Given the description of an element on the screen output the (x, y) to click on. 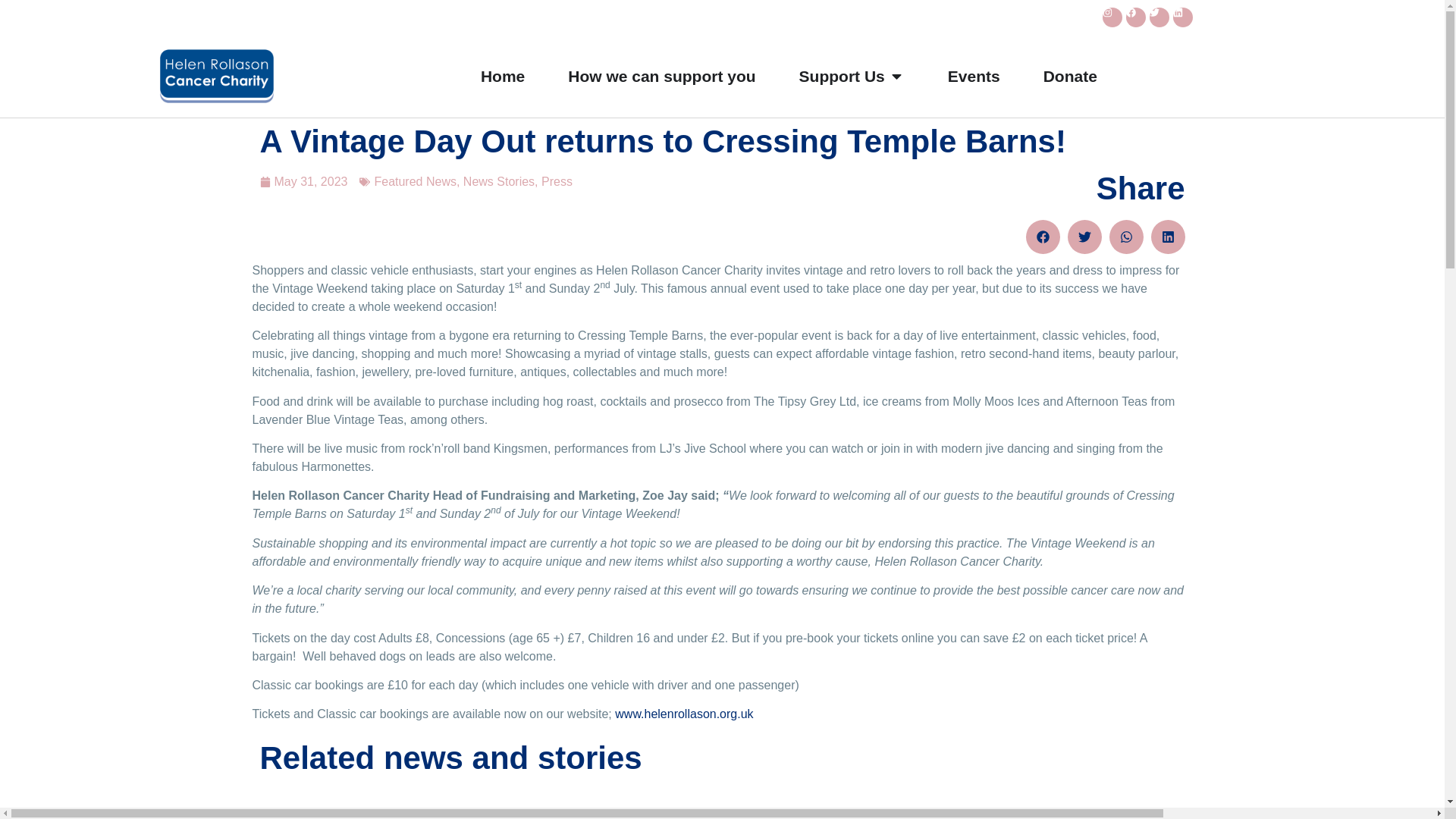
Home (502, 76)
Press (556, 181)
How we can support you (661, 76)
www.helenrollason.org.uk (683, 713)
May 31, 2023 (303, 181)
News Stories (498, 181)
Events (973, 76)
Featured News (415, 181)
Support Us (842, 76)
Donate (1070, 76)
